Given the description of an element on the screen output the (x, y) to click on. 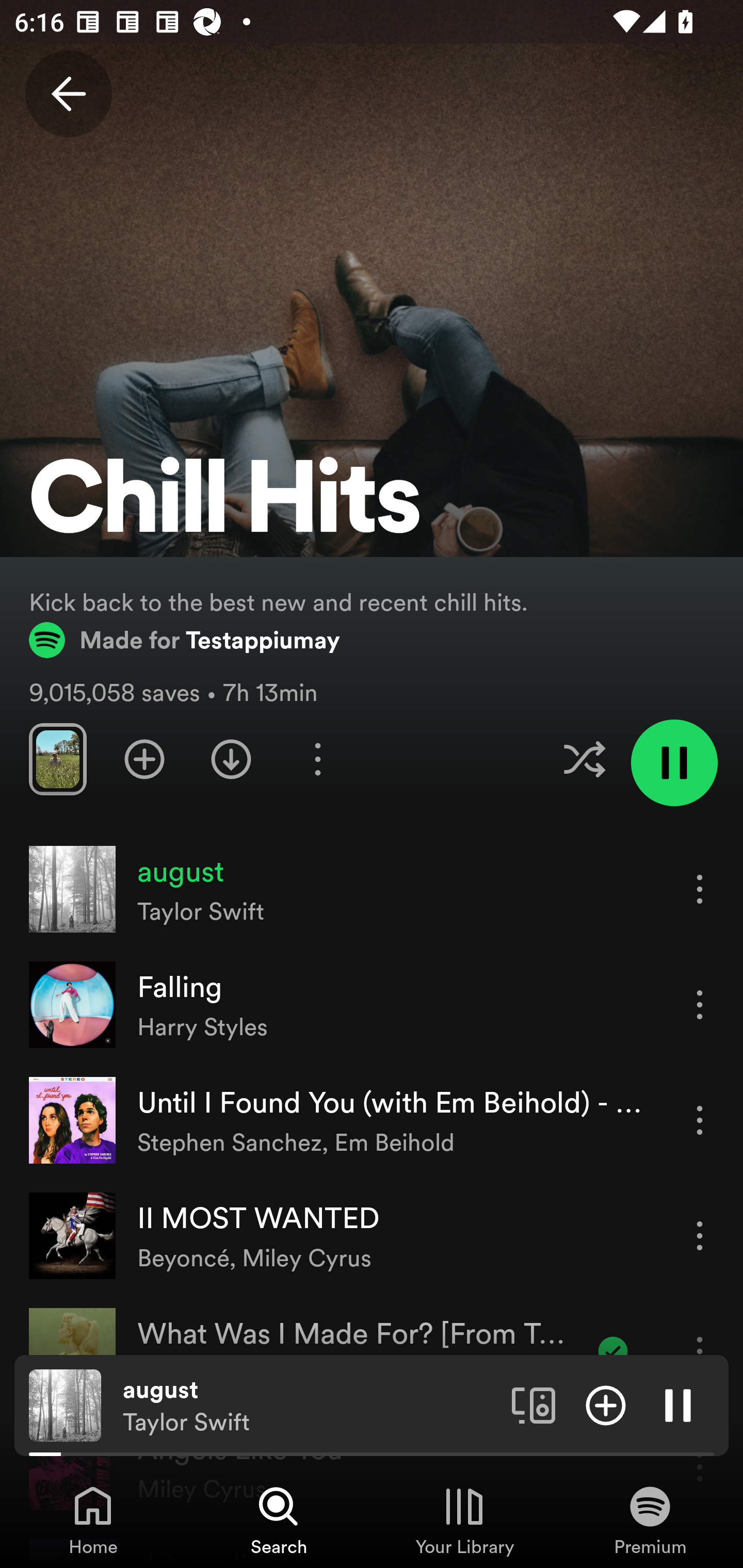
Back (68, 93)
Made for Testappiumay (184, 640)
Swipe through previews of tracks in this playlist. (57, 759)
Add playlist to Your Library (144, 759)
Download (230, 759)
More options for playlist Chill Hits (317, 759)
Enable shuffle for this playlist (583, 759)
Pause playlist (674, 762)
august Taylor Swift More options for song august (371, 889)
More options for song august (699, 888)
Falling Harry Styles More options for song Falling (371, 1005)
More options for song Falling (699, 1004)
More options for song II MOST WANTED (699, 1236)
august Taylor Swift (309, 1405)
The cover art of the currently playing track (64, 1404)
Connect to a device. Opens the devices menu (533, 1404)
Add item (605, 1404)
Pause (677, 1404)
Home, Tab 1 of 4 Home Home (92, 1519)
Search, Tab 2 of 4 Search Search (278, 1519)
Your Library, Tab 3 of 4 Your Library Your Library (464, 1519)
Premium, Tab 4 of 4 Premium Premium (650, 1519)
